Given the description of an element on the screen output the (x, y) to click on. 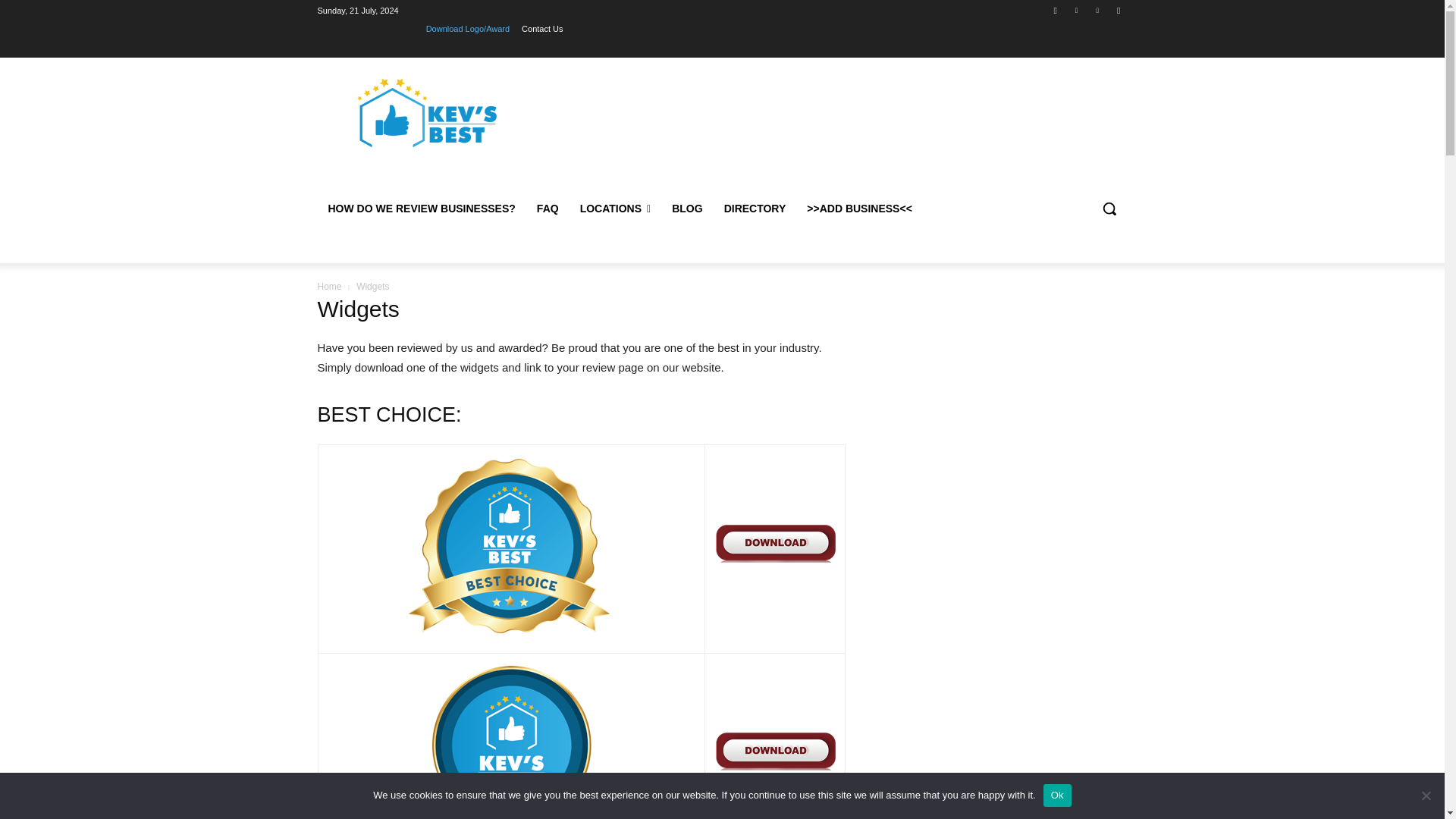
Twitter (1117, 9)
Linkedin (1075, 9)
HOW DO WE REVIEW BUSINESSES? (421, 208)
FAQ (547, 208)
LOCATIONS (615, 208)
Pinterest (1097, 9)
Facebook (1055, 9)
Contact Us (541, 28)
